Given the description of an element on the screen output the (x, y) to click on. 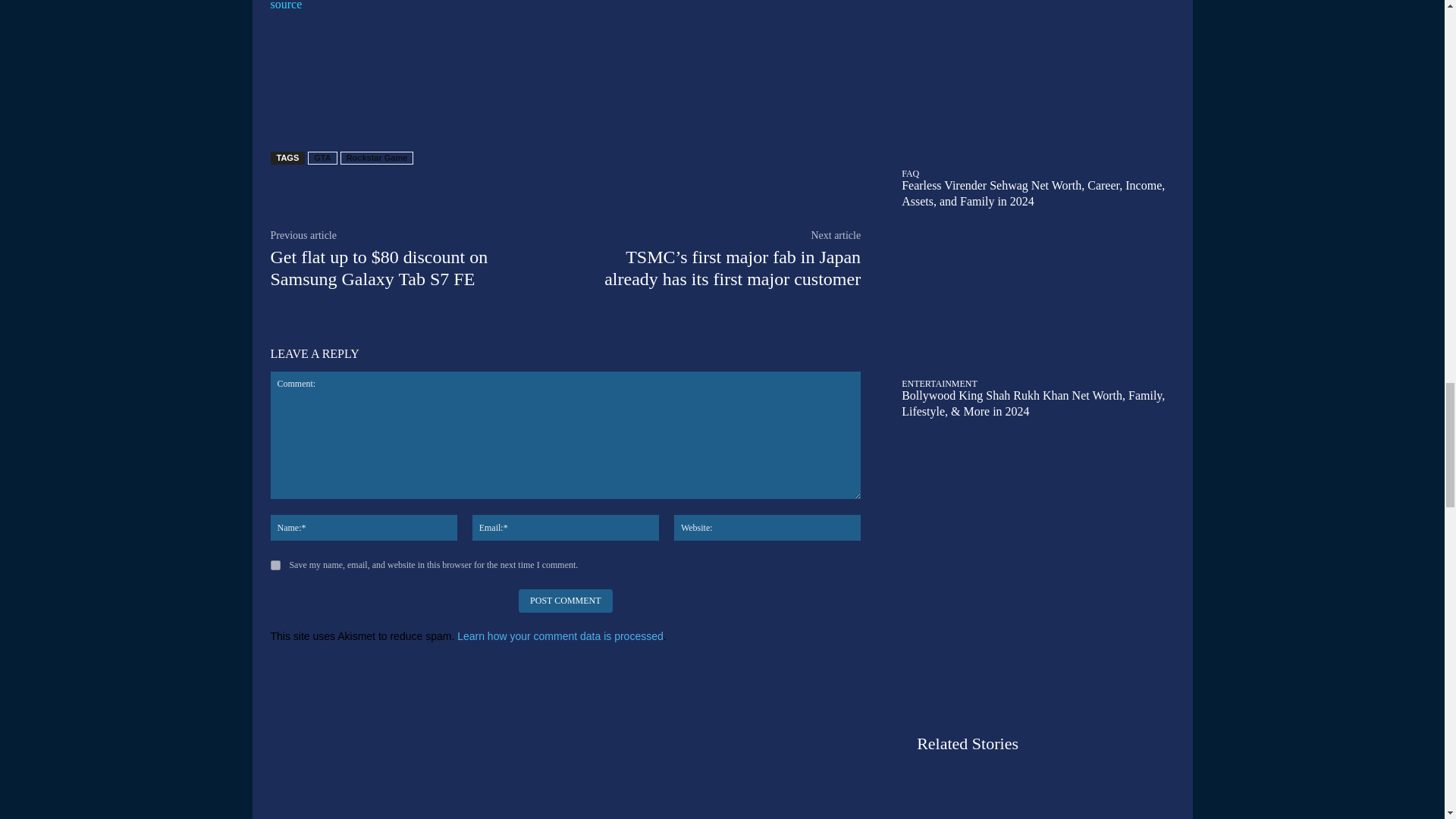
yes (274, 565)
Post Comment (564, 600)
